Given the description of an element on the screen output the (x, y) to click on. 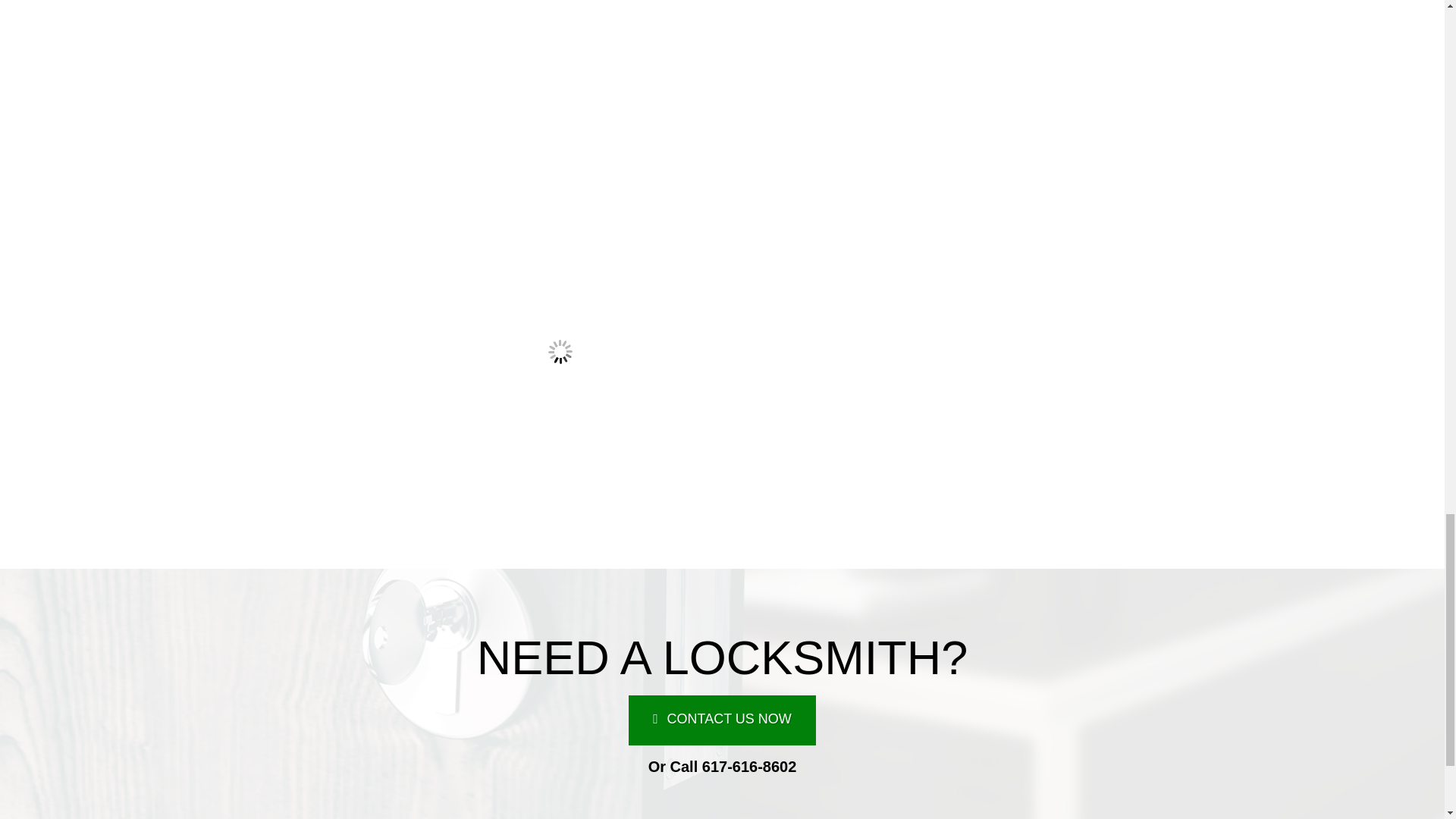
CONTACT US NOW (721, 720)
